Given the description of an element on the screen output the (x, y) to click on. 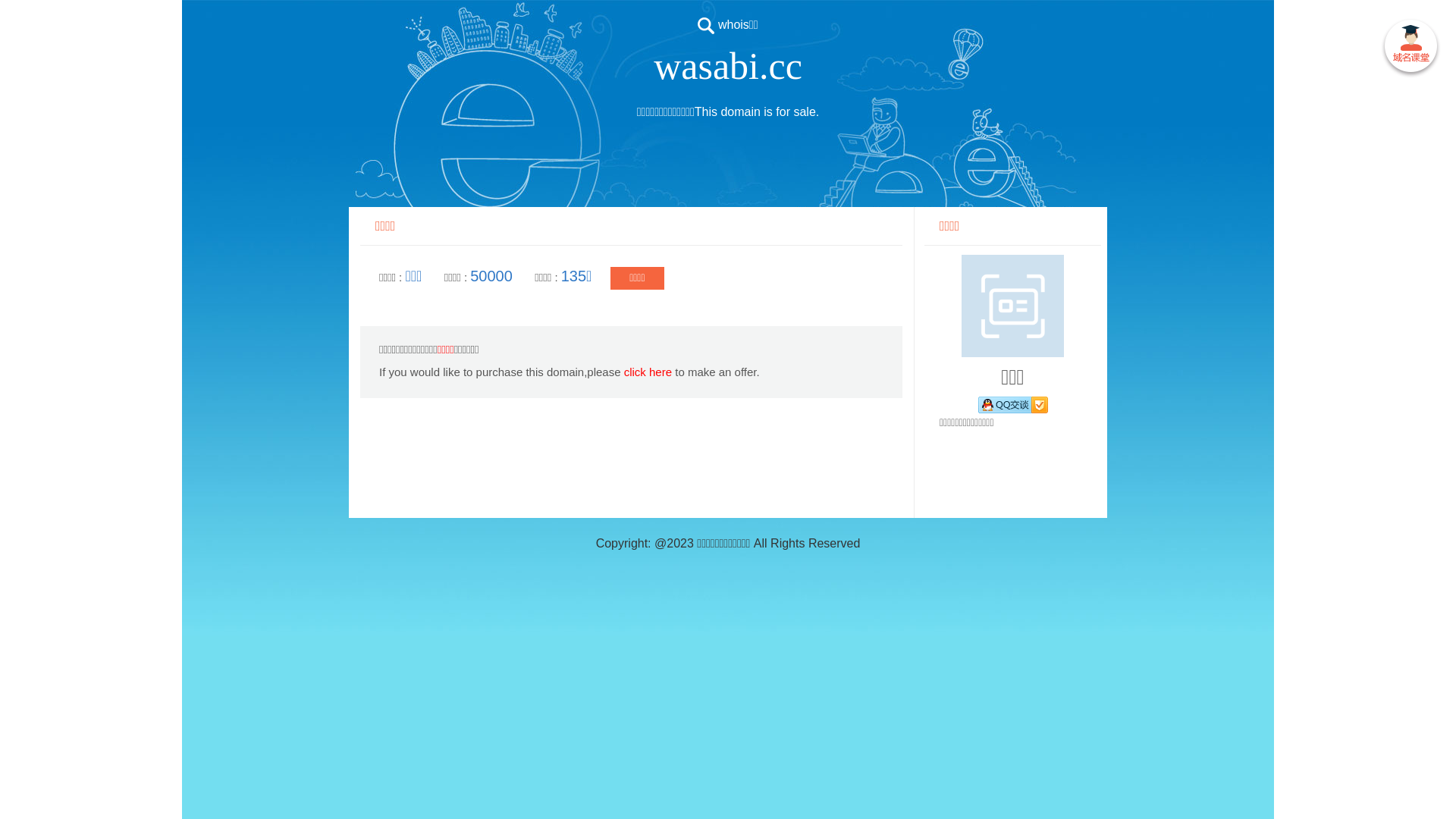
click here Element type: text (647, 371)
  Element type: text (1410, 48)
